Given the description of an element on the screen output the (x, y) to click on. 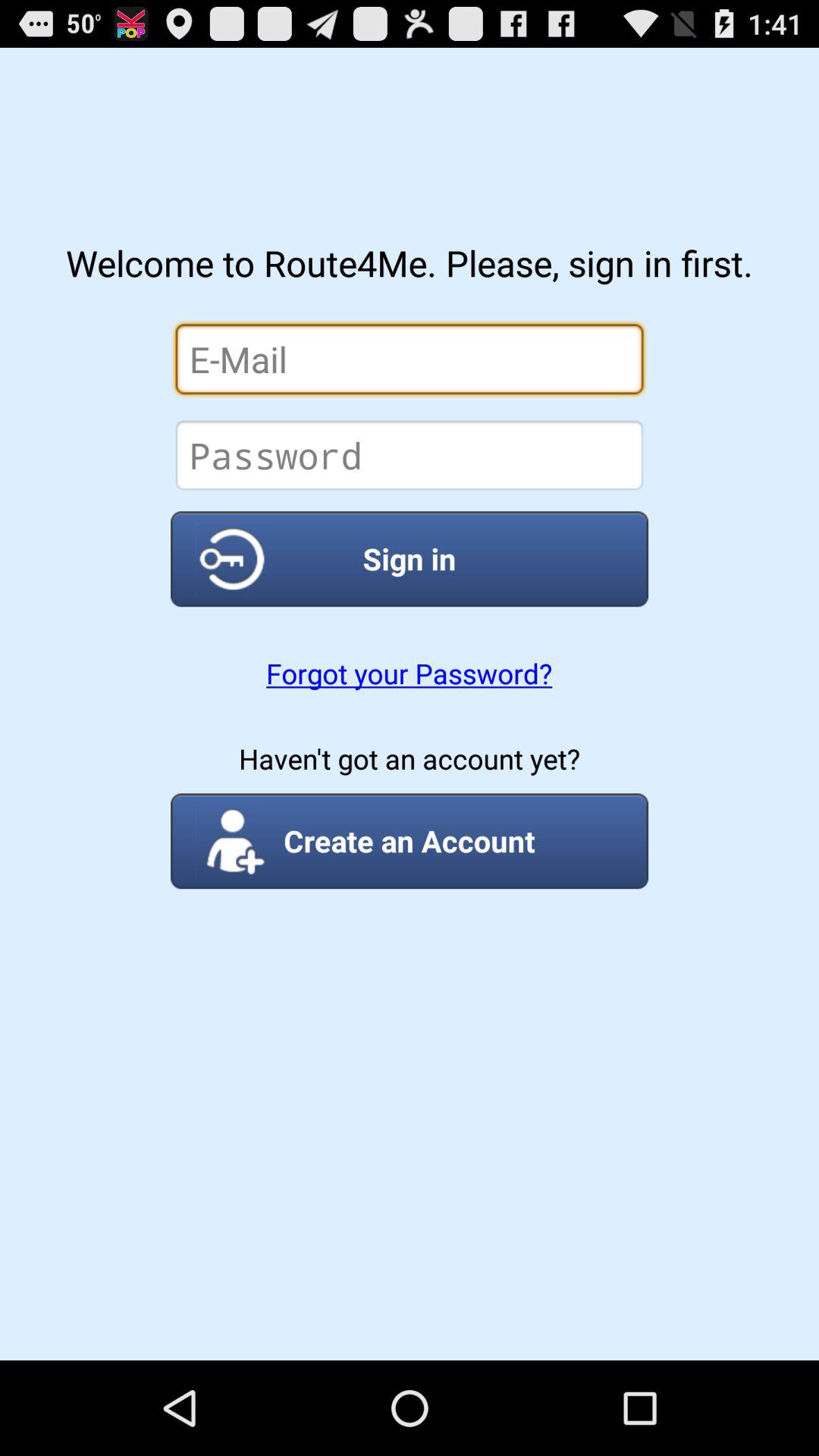
swipe until the forgot your password? app (409, 673)
